Given the description of an element on the screen output the (x, y) to click on. 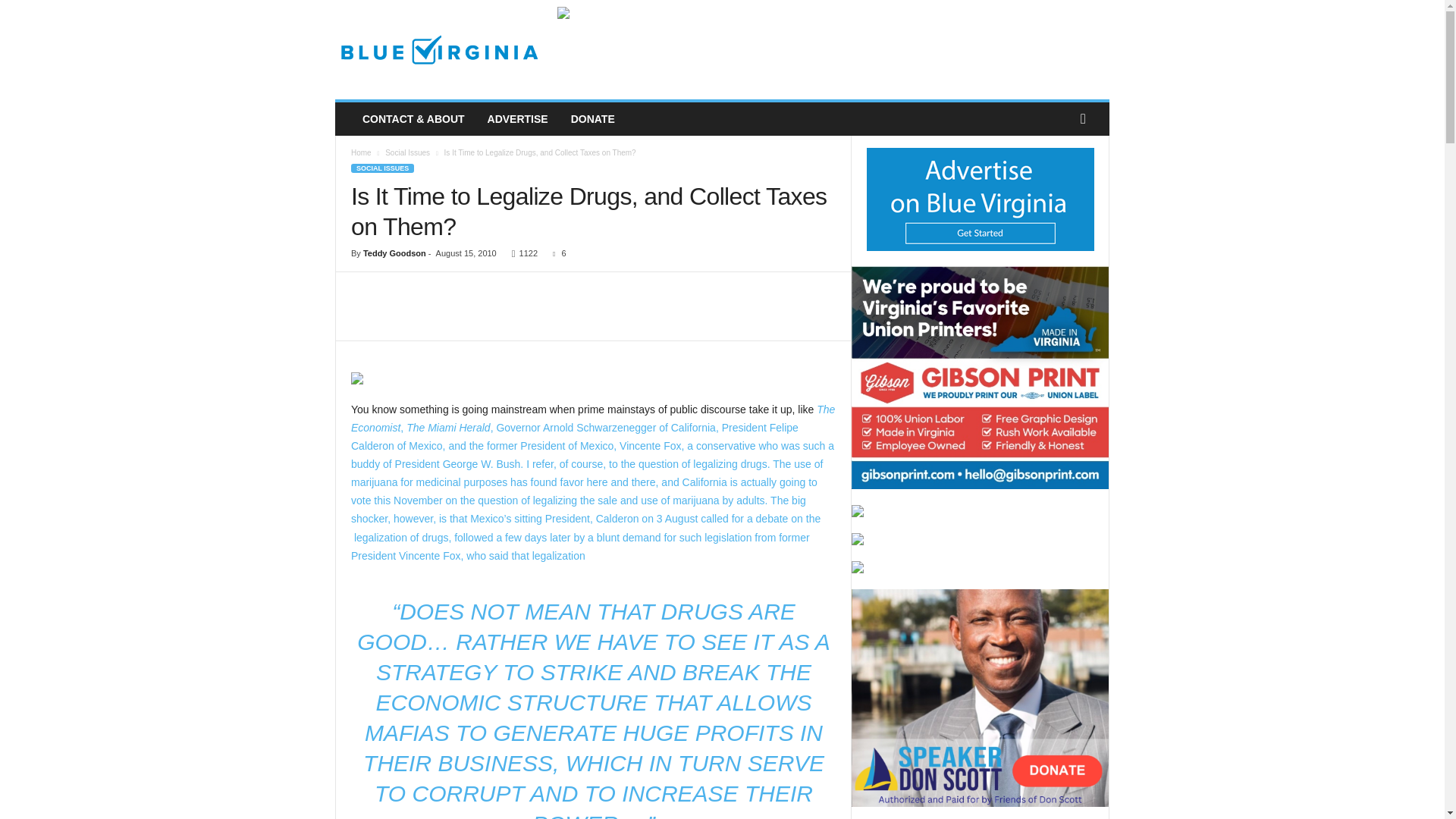
ADVERTISE (517, 118)
The Economist (592, 418)
DONATE (592, 118)
SOCIAL ISSUES (381, 167)
The Miami Herald (447, 427)
6 (556, 252)
Home (360, 152)
View all posts in Social Issues (407, 152)
Blue Virginia (437, 49)
Social Issues (407, 152)
